Given the description of an element on the screen output the (x, y) to click on. 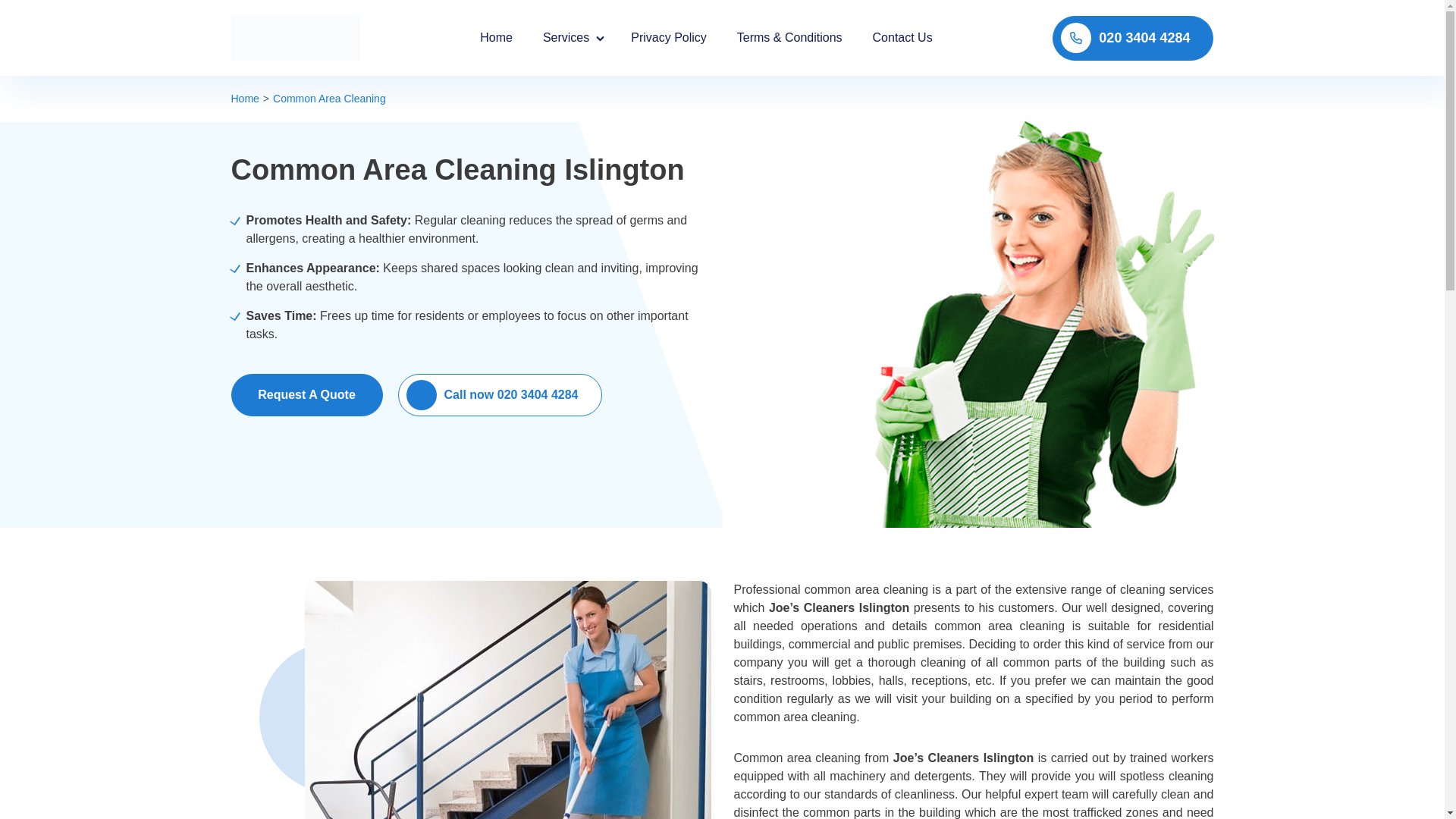
Common Area Cleaning Islington (507, 699)
Request A Quote (305, 394)
Services (571, 37)
Home (244, 98)
020 3404 4284 (1132, 37)
Home (496, 37)
Call now 020 3404 4284 (499, 394)
Privacy Policy (668, 37)
Call Cleaner Islington on 020 3404 4284 (1132, 37)
